Given the description of an element on the screen output the (x, y) to click on. 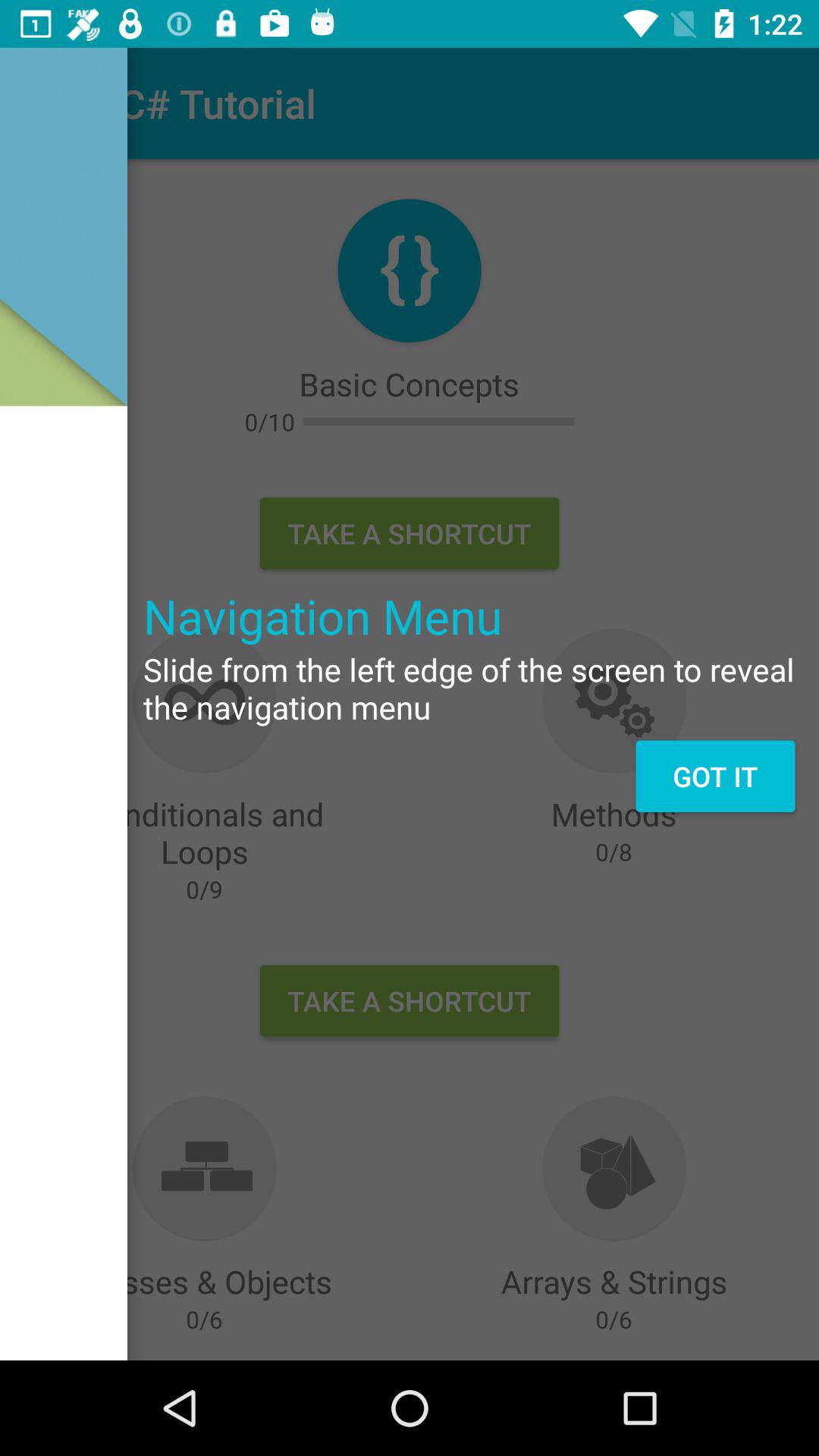
turn on item below slide from the (715, 776)
